Given the description of an element on the screen output the (x, y) to click on. 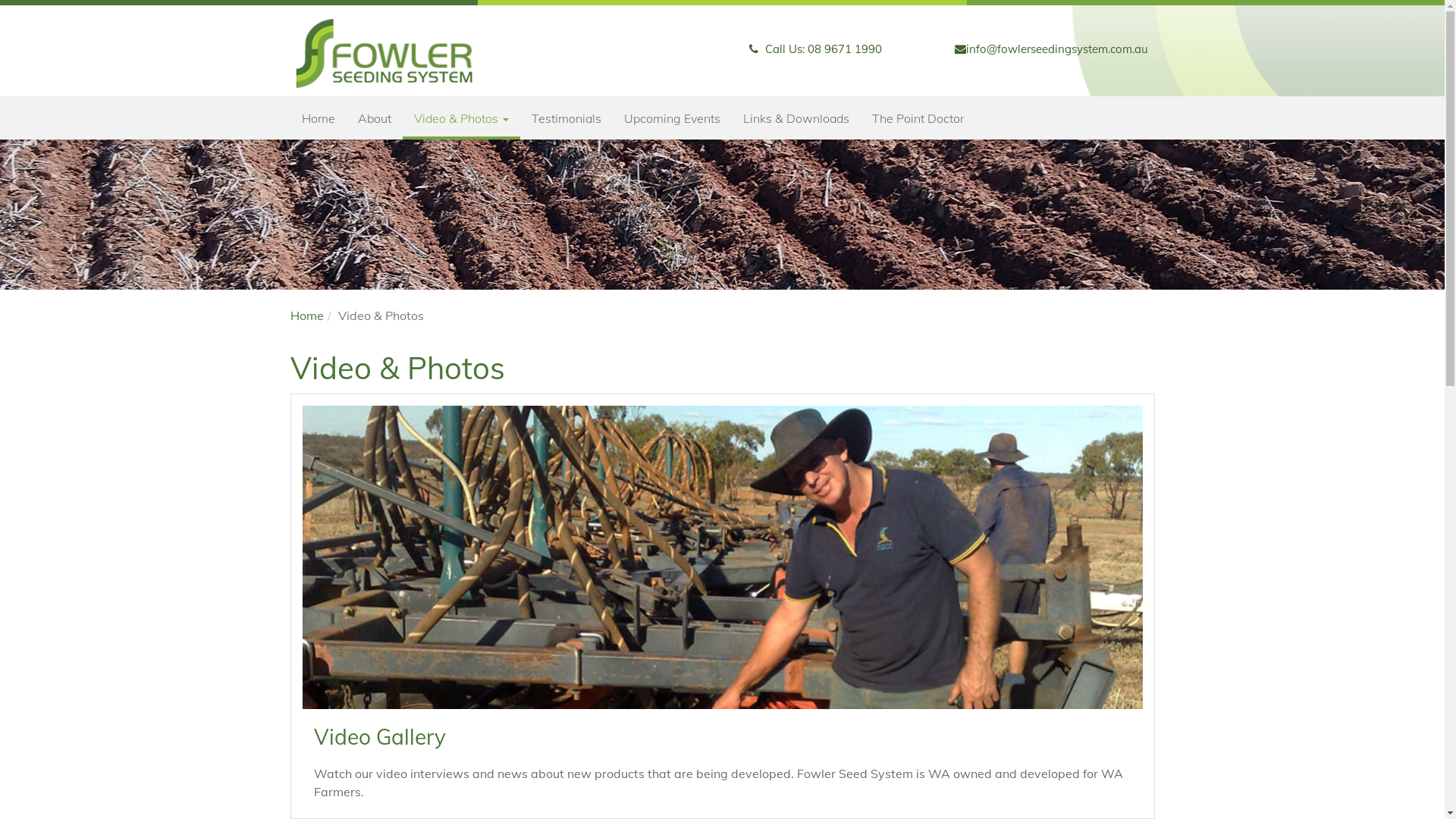
Video Gallery Element type: text (379, 736)
Links & Downloads Element type: text (795, 117)
About Element type: text (373, 117)
The Point Doctor Element type: text (917, 117)
Testimonials Element type: text (566, 117)
Upcoming Events Element type: text (671, 117)
Home Element type: text (306, 315)
Video & Photos Element type: text (460, 117)
Home Element type: text (317, 117)
